Given the description of an element on the screen output the (x, y) to click on. 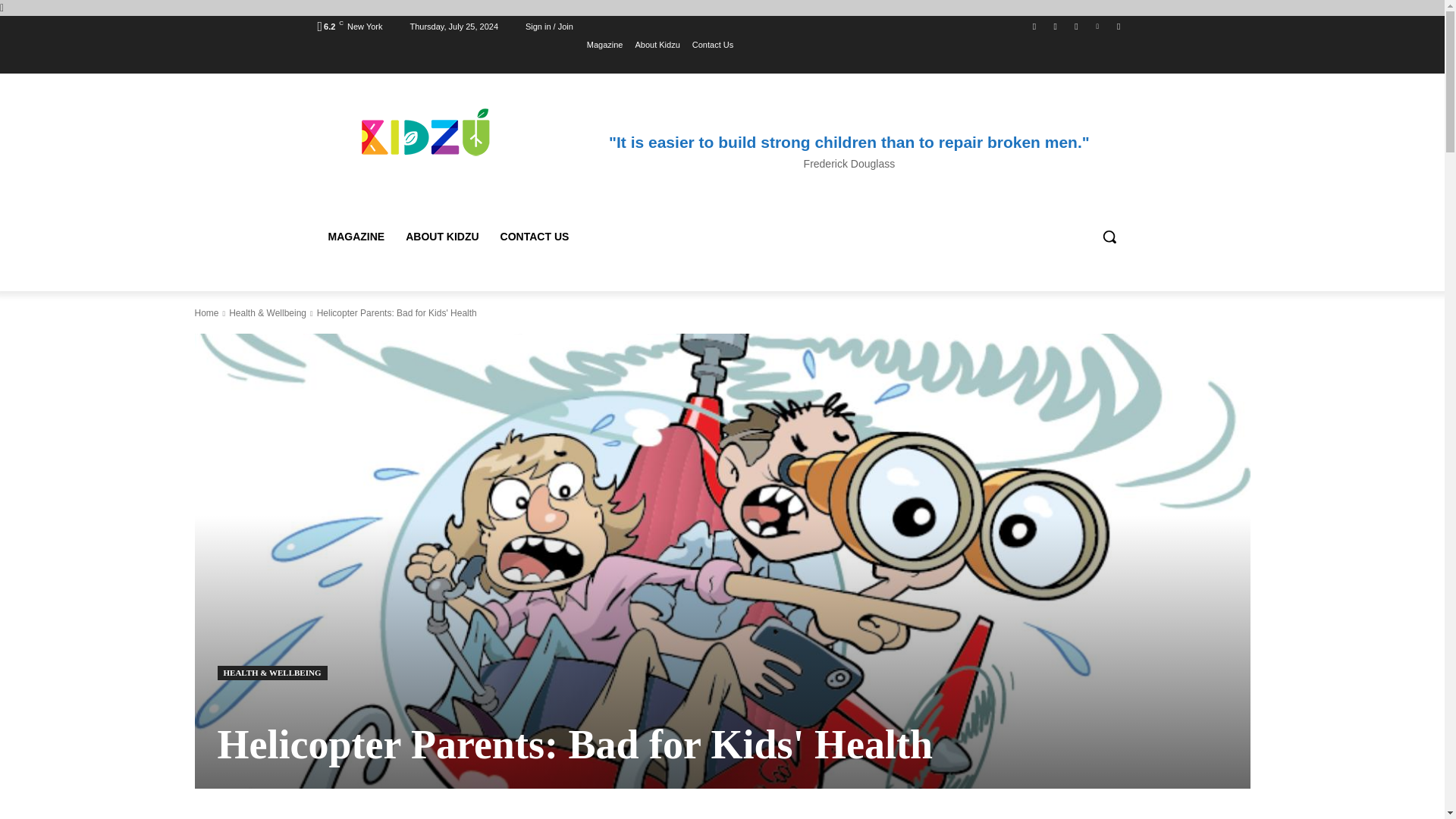
Magazine (604, 44)
ABOUT KIDZU (441, 236)
About Kidzu (656, 44)
Vimeo (1097, 27)
Home (205, 312)
CONTACT US (534, 236)
Youtube (1117, 27)
MAGAZINE (355, 236)
Facebook (1034, 27)
Contact Us (713, 44)
Instagram (1055, 27)
Twitter (1075, 27)
